Given the description of an element on the screen output the (x, y) to click on. 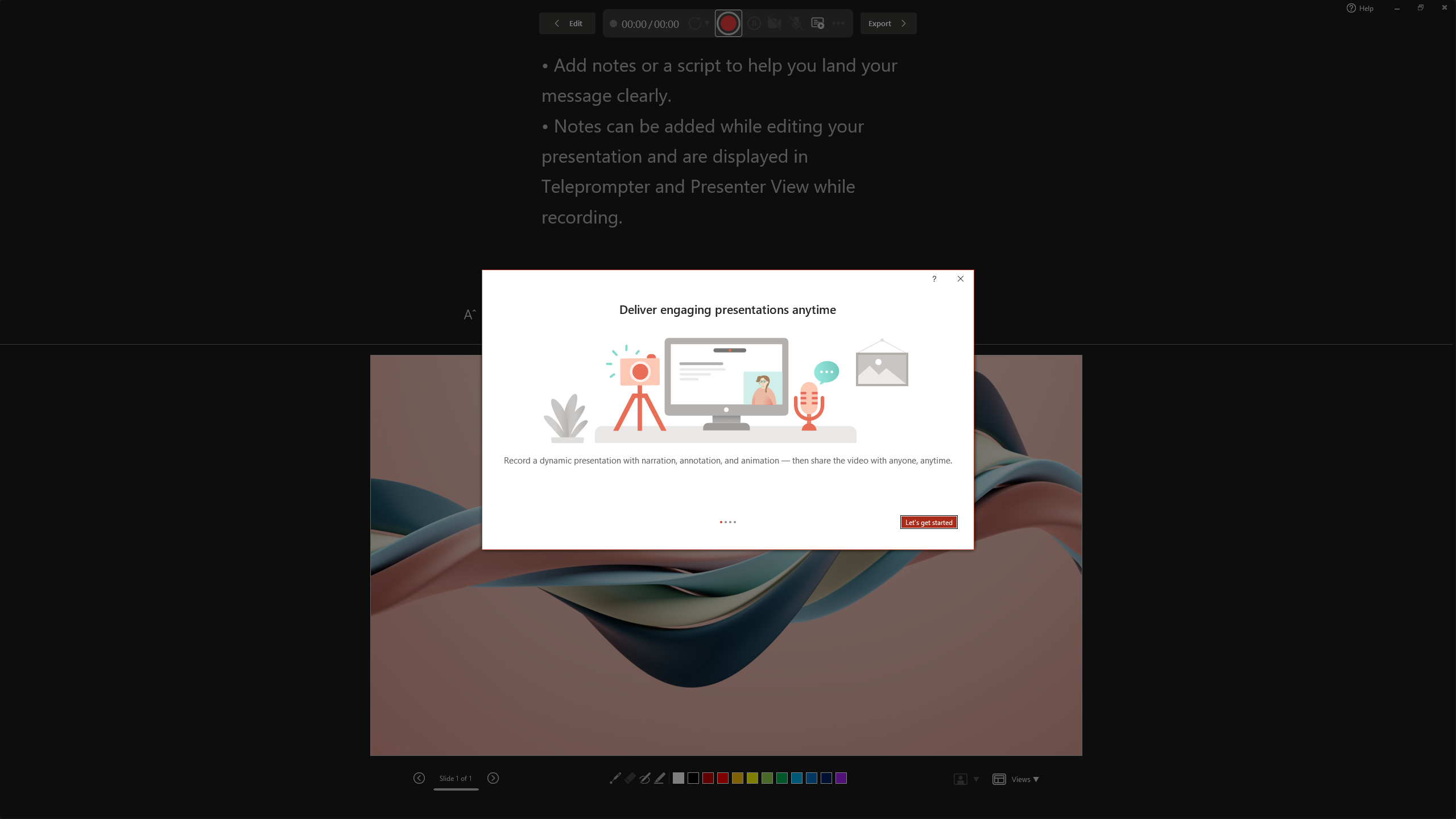
Ion (296, 56)
Integral (244, 56)
Wisp (561, 56)
Dividend (879, 56)
Gallery (1037, 56)
Integral Variant 3 (1217, 56)
Circuit (772, 56)
Context help (950, 280)
Picture Format (475, 28)
Office Theme (85, 56)
